Given the description of an element on the screen output the (x, y) to click on. 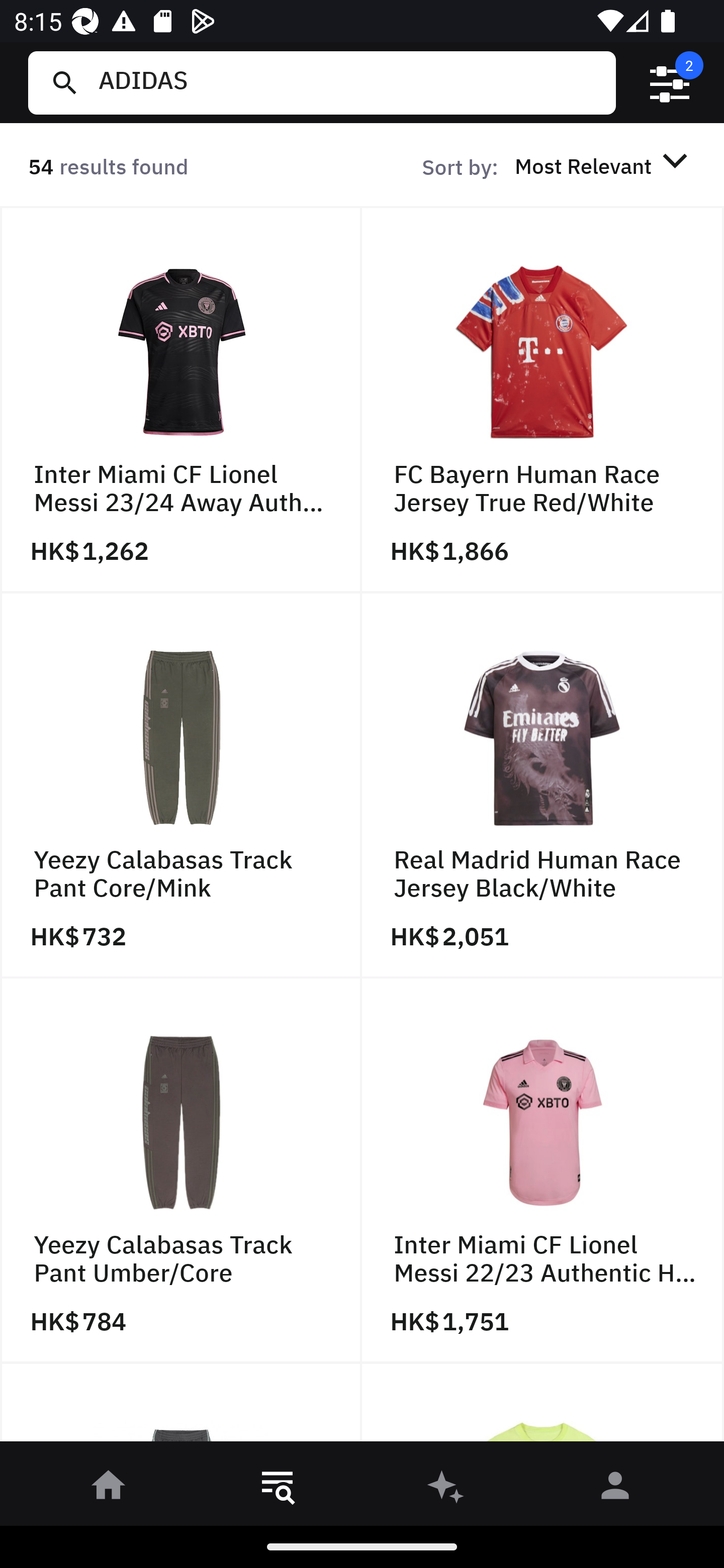
ADIDAS (349, 82)
 (669, 82)
Most Relevant  (604, 165)
Yeezy Calabasas Track Pant Core/Mink HK$ 732 (181, 785)
Yeezy Calabasas Track Pant Umber/Core HK$ 784 (181, 1171)
󰋜 (108, 1488)
󱎸 (277, 1488)
󰫢 (446, 1488)
󰀄 (615, 1488)
